Given the description of an element on the screen output the (x, y) to click on. 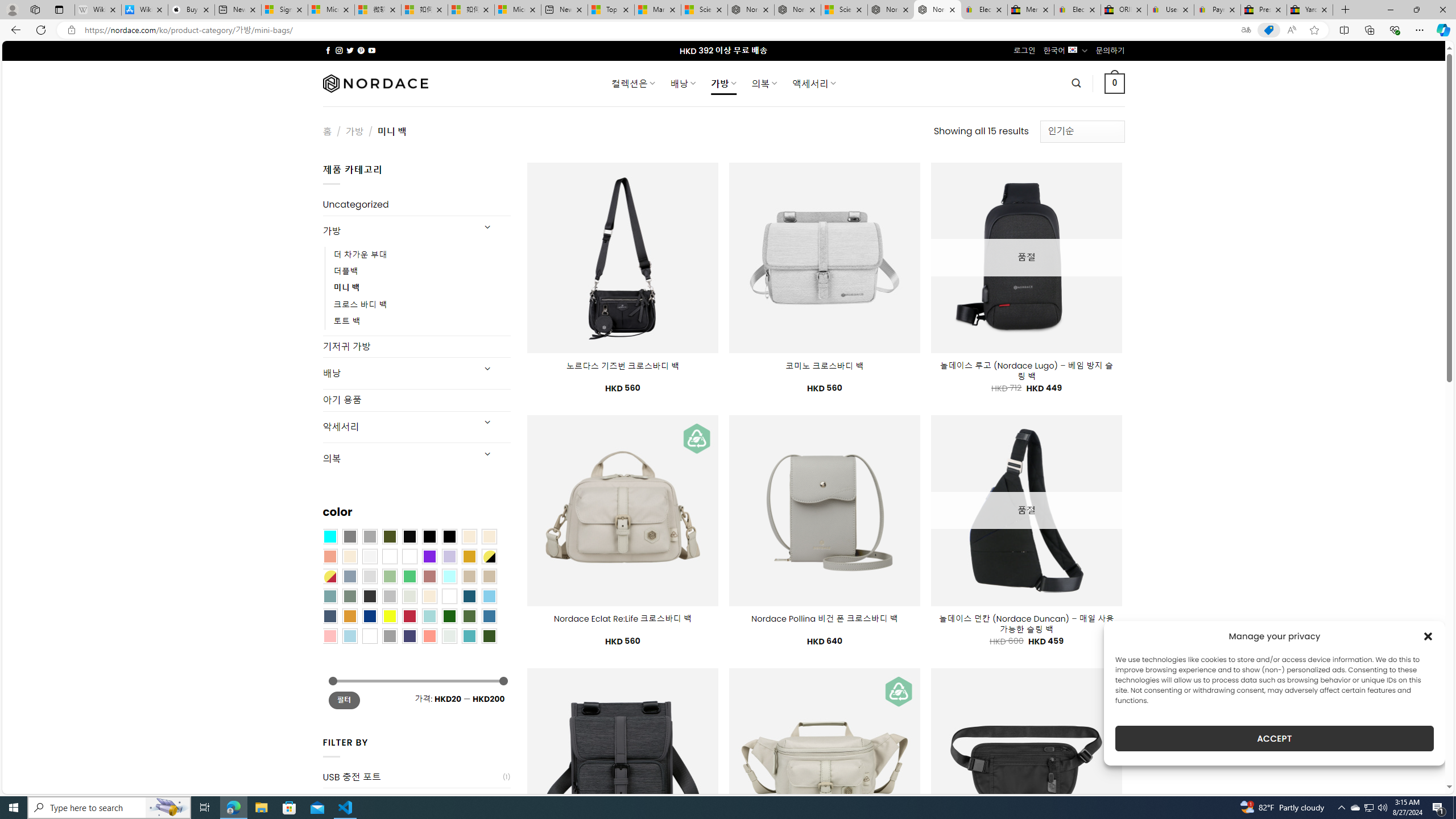
Show translate options (1245, 29)
